Given the description of an element on the screen output the (x, y) to click on. 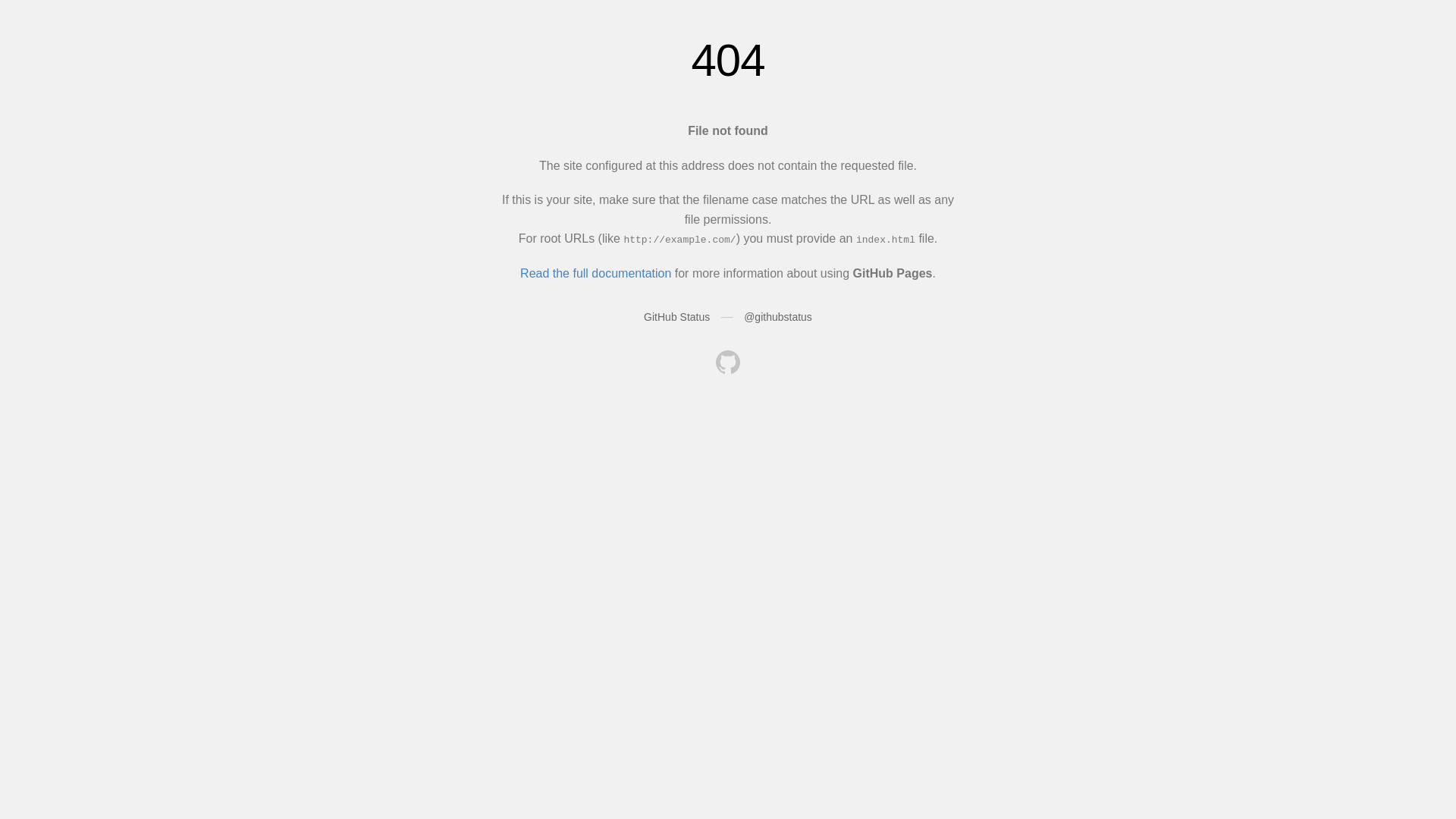
GitHub Status Element type: text (676, 316)
Read the full documentation Element type: text (595, 272)
@githubstatus Element type: text (777, 316)
